Given the description of an element on the screen output the (x, y) to click on. 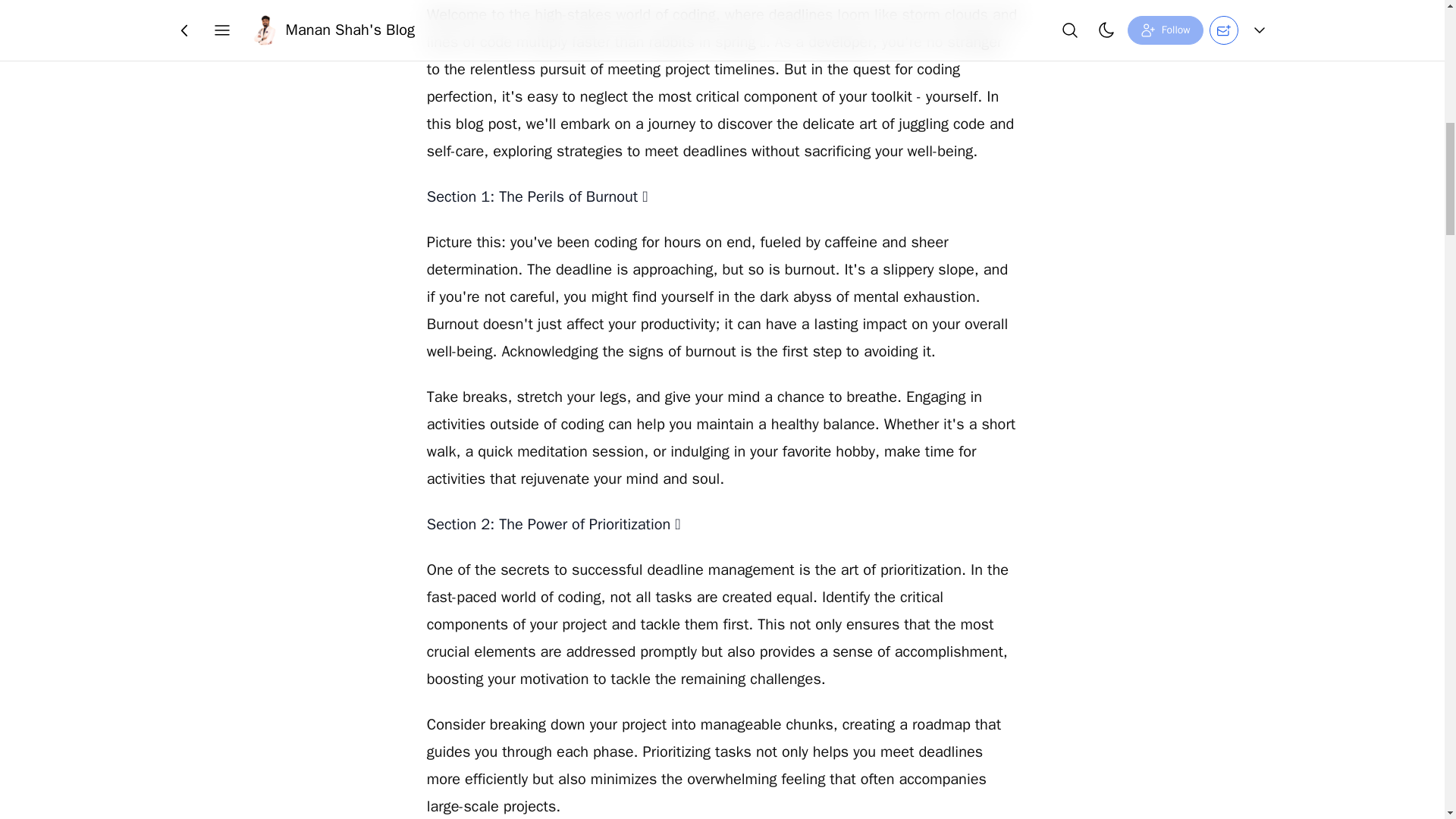
Add Bookmark (743, 24)
